Given the description of an element on the screen output the (x, y) to click on. 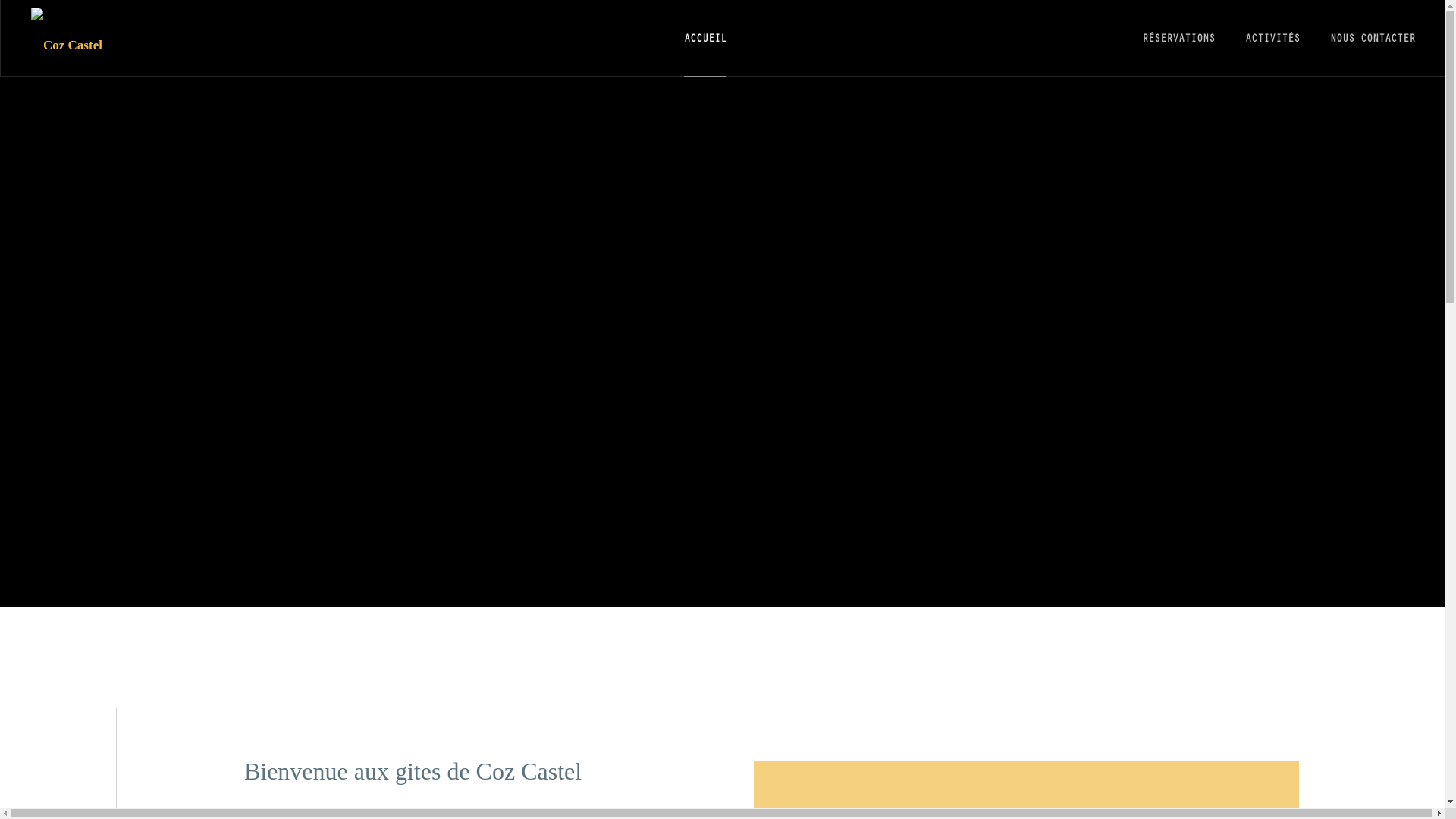
ACCUEIL Element type: text (705, 37)
Rechercher Element type: text (1237, 651)
NOUS CONTACTER Element type: text (1372, 37)
